Given the description of an element on the screen output the (x, y) to click on. 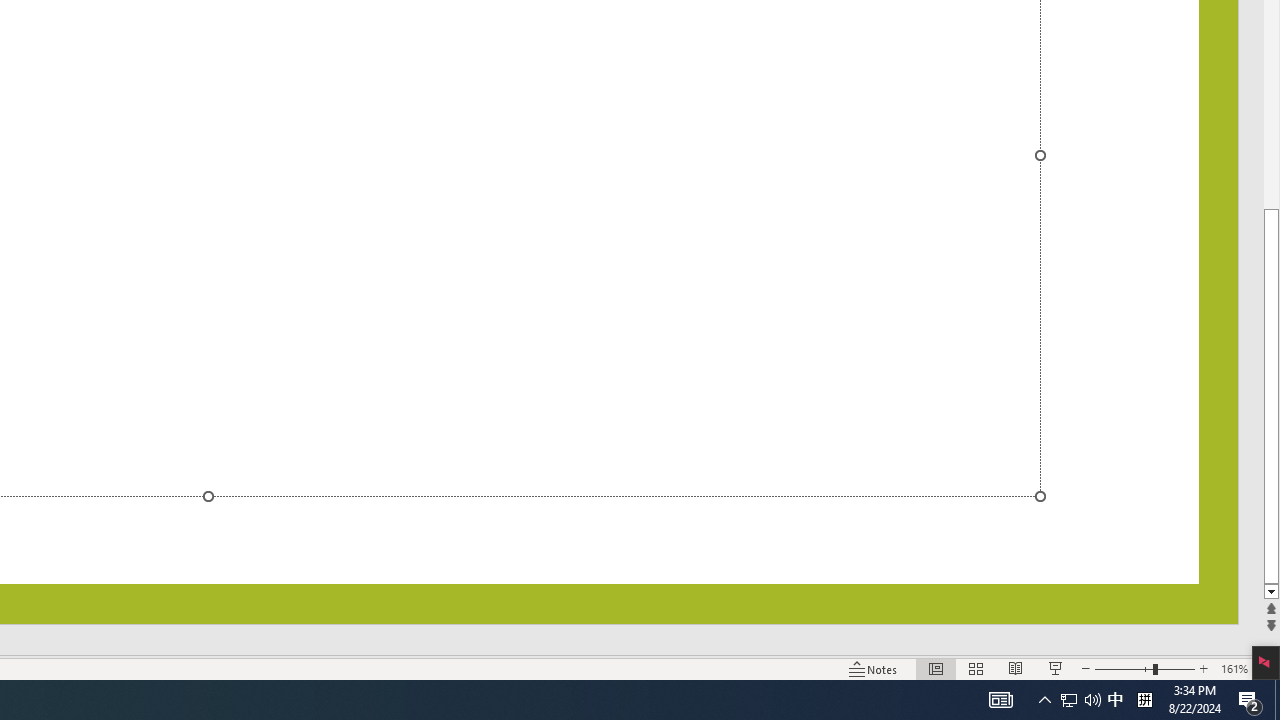
Zoom 161% (1234, 668)
